Given the description of an element on the screen output the (x, y) to click on. 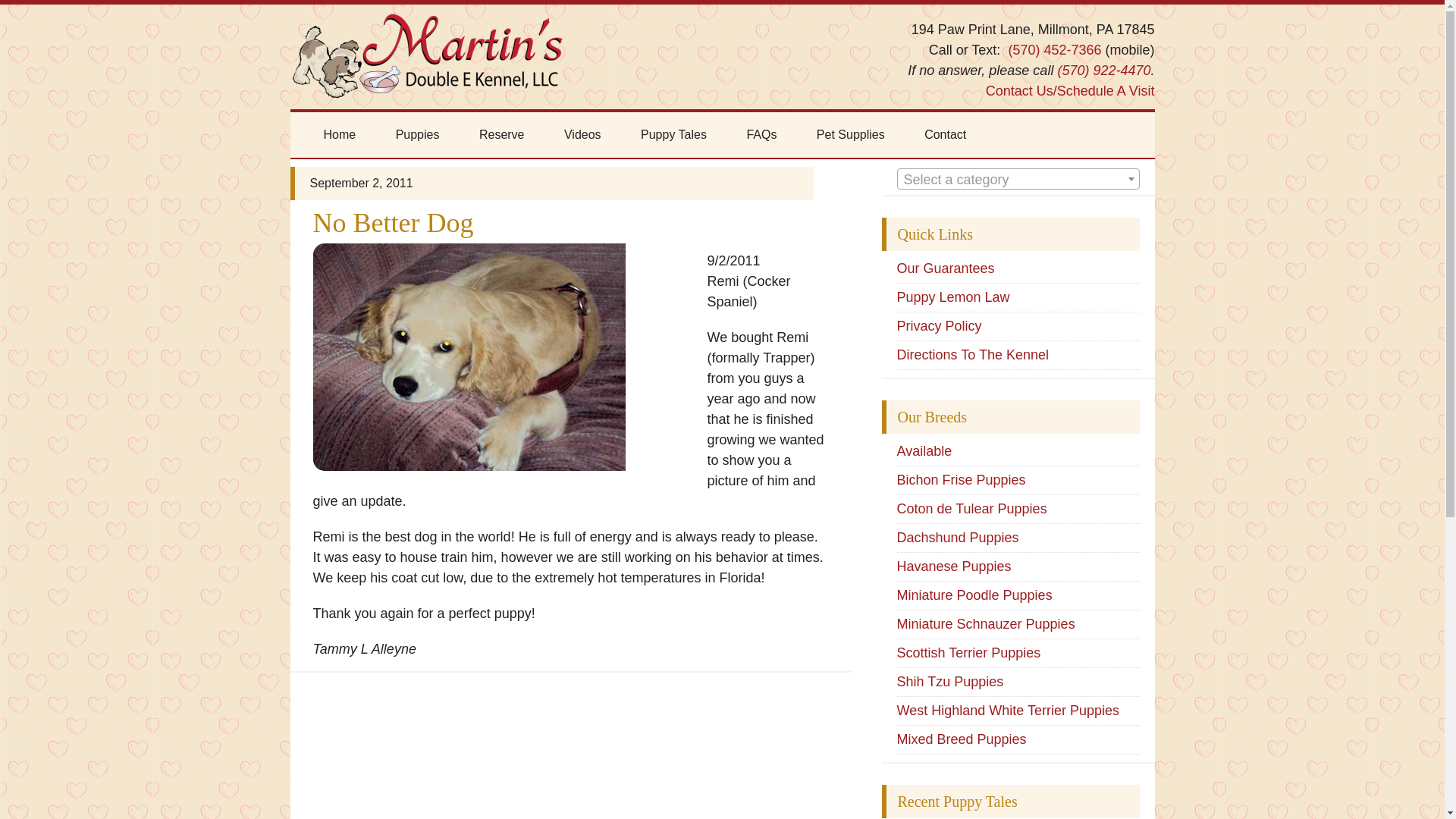
Dachshund Puppies (956, 537)
Puppy Tales (674, 135)
Puppy Lemon Law (952, 296)
Shih Tzu Puppies (949, 681)
Privacy Policy (938, 325)
Videos (583, 135)
Reserve (502, 135)
West Highland White Terrier Puppies (1007, 710)
Miniature Poodle Puppies (973, 595)
Contact (944, 135)
Home (339, 135)
Mixed Breed Puppies (961, 739)
Miniature Schnauzer Puppies (985, 623)
Scottish Terrier Puppies (968, 652)
Bichon Frise Puppies (960, 479)
